Given the description of an element on the screen output the (x, y) to click on. 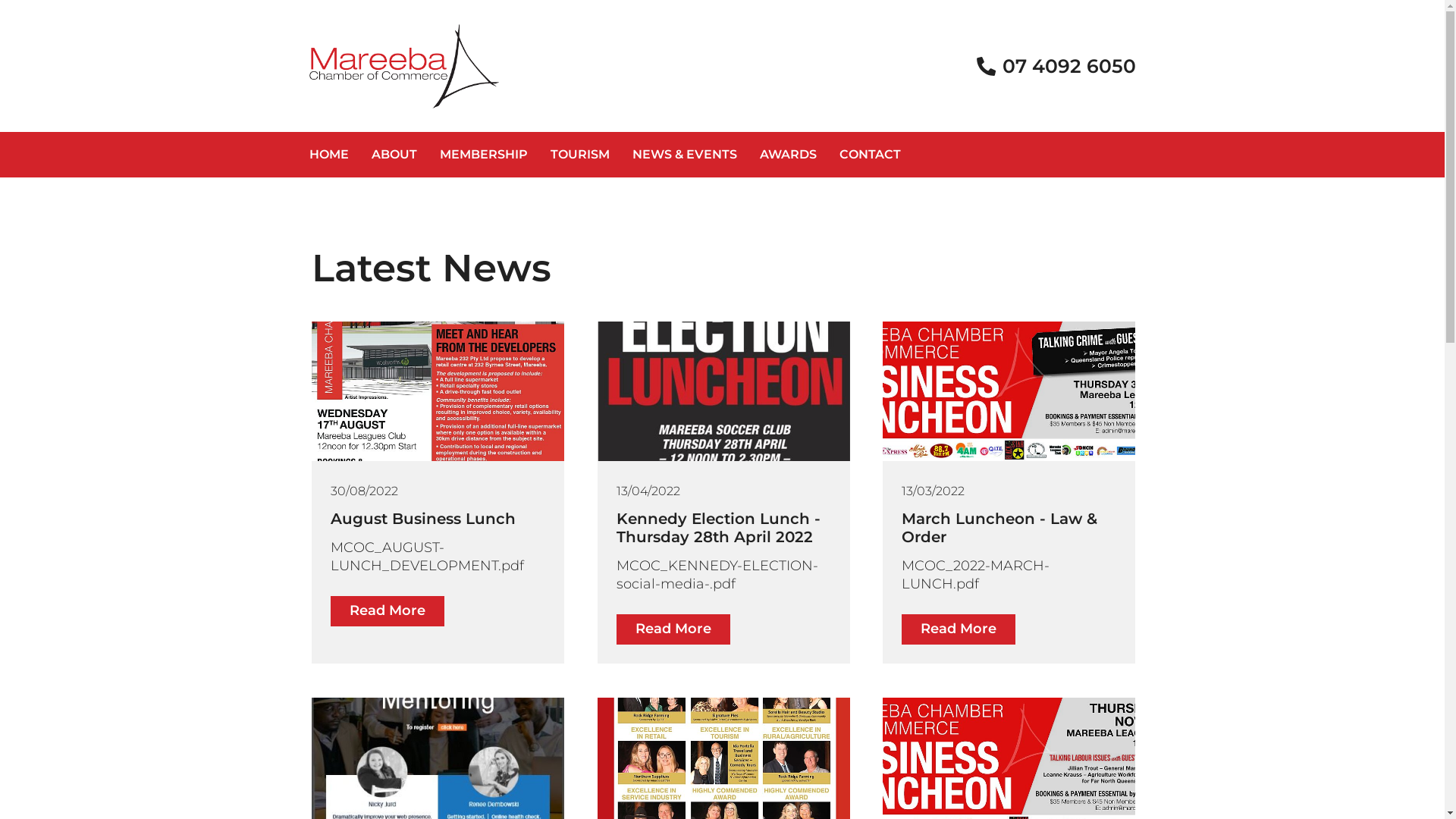
March Luncheon - Law & Order Element type: text (1008, 527)
TOURISM Element type: text (579, 154)
Kennedy Election Lunch - Thursday 28th April 2022 Element type: text (723, 527)
Read More Element type: text (673, 629)
CONTACT Element type: text (870, 154)
ABOUT Element type: text (393, 154)
MEMBERSHIP Element type: text (482, 154)
NEWS & EVENTS Element type: text (683, 154)
HOME Element type: text (328, 154)
Read More Element type: text (387, 611)
Read More Element type: text (958, 629)
AWARDS Element type: text (787, 154)
August Business Lunch Element type: text (437, 518)
07 4092 6050 Element type: text (1054, 65)
